Given the description of an element on the screen output the (x, y) to click on. 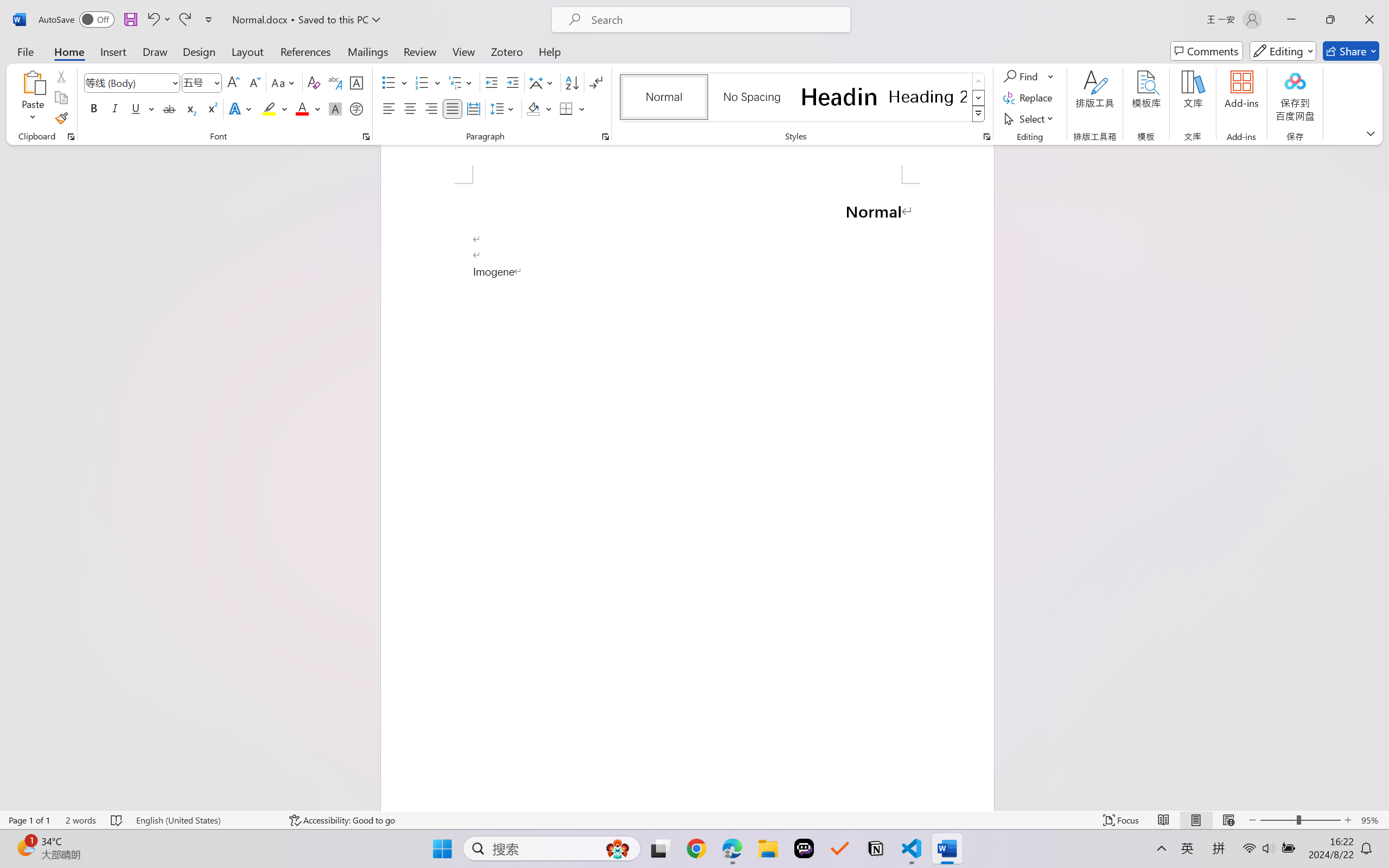
Font... (365, 136)
Format Painter (60, 118)
Text Effects and Typography (241, 108)
Bold (94, 108)
Font Color RGB(255, 0, 0) (302, 108)
Decrease Indent (491, 82)
Styles... (986, 136)
Justify (452, 108)
